Given the description of an element on the screen output the (x, y) to click on. 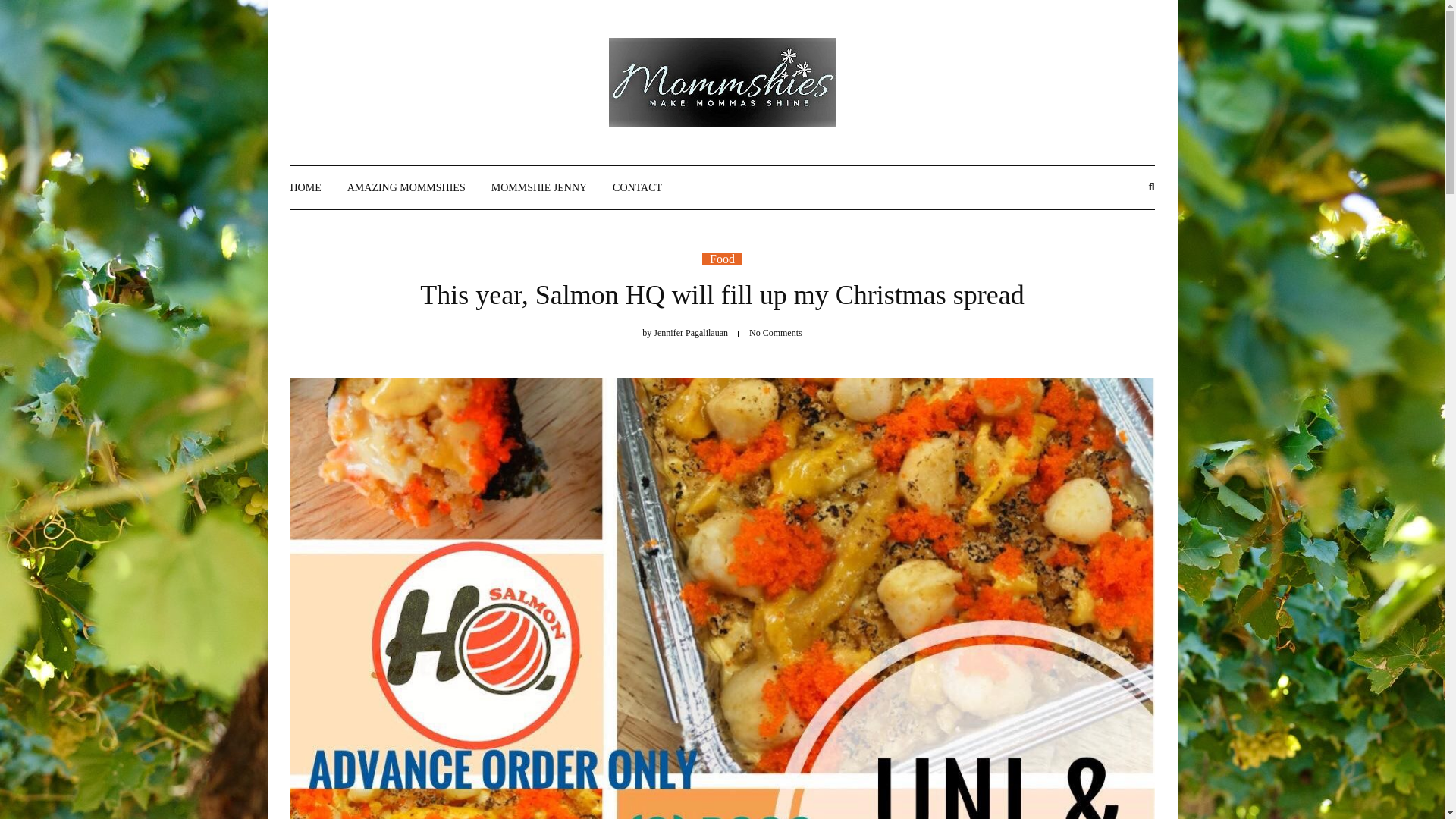
MOMMSHIE JENNY (539, 187)
CONTACT (637, 187)
Food (721, 258)
AMAZING MOMMSHIES (406, 187)
